Given the description of an element on the screen output the (x, y) to click on. 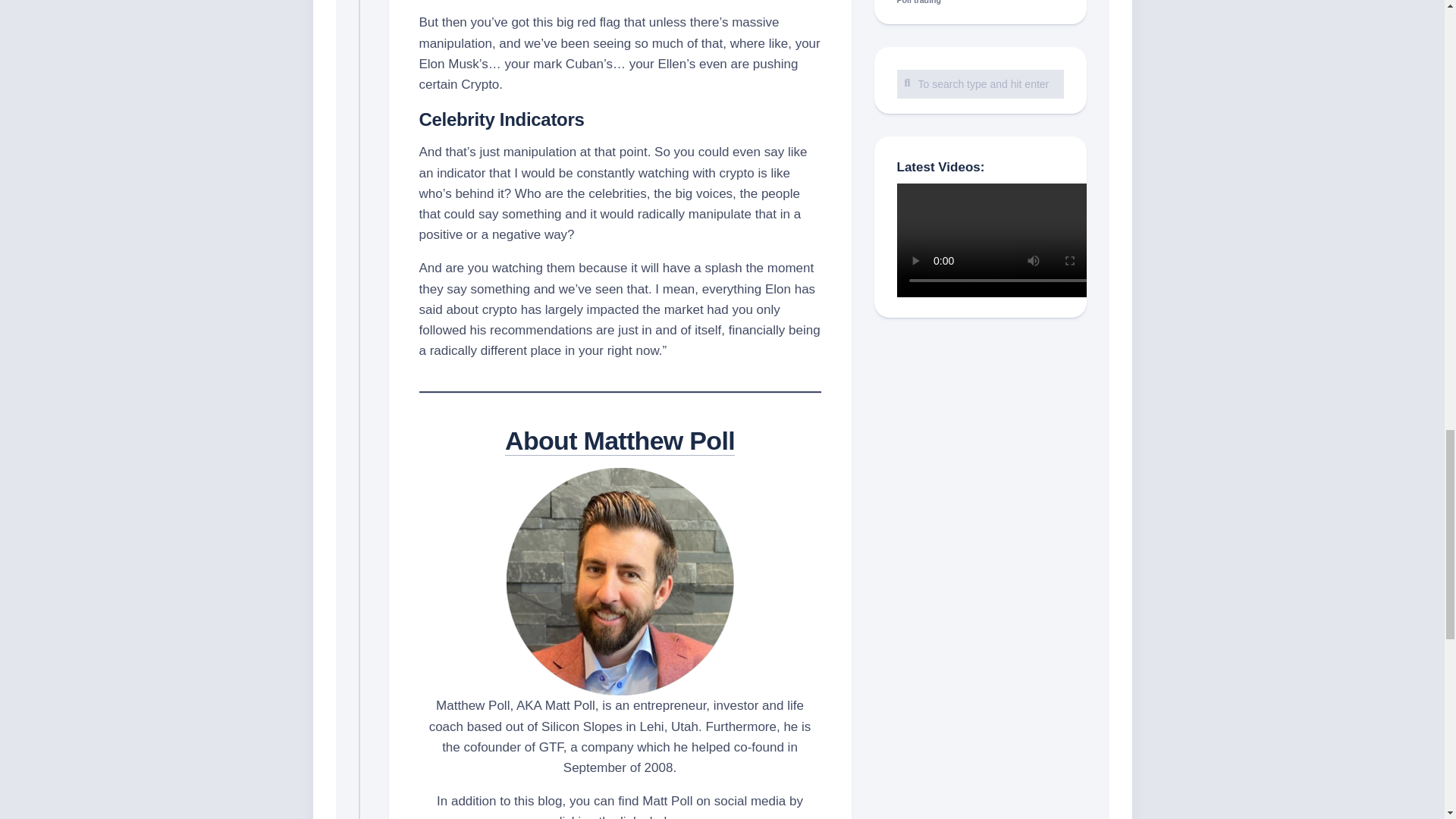
To search type and hit enter (979, 83)
To search type and hit enter (979, 83)
About Matthew Poll (620, 440)
